Given the description of an element on the screen output the (x, y) to click on. 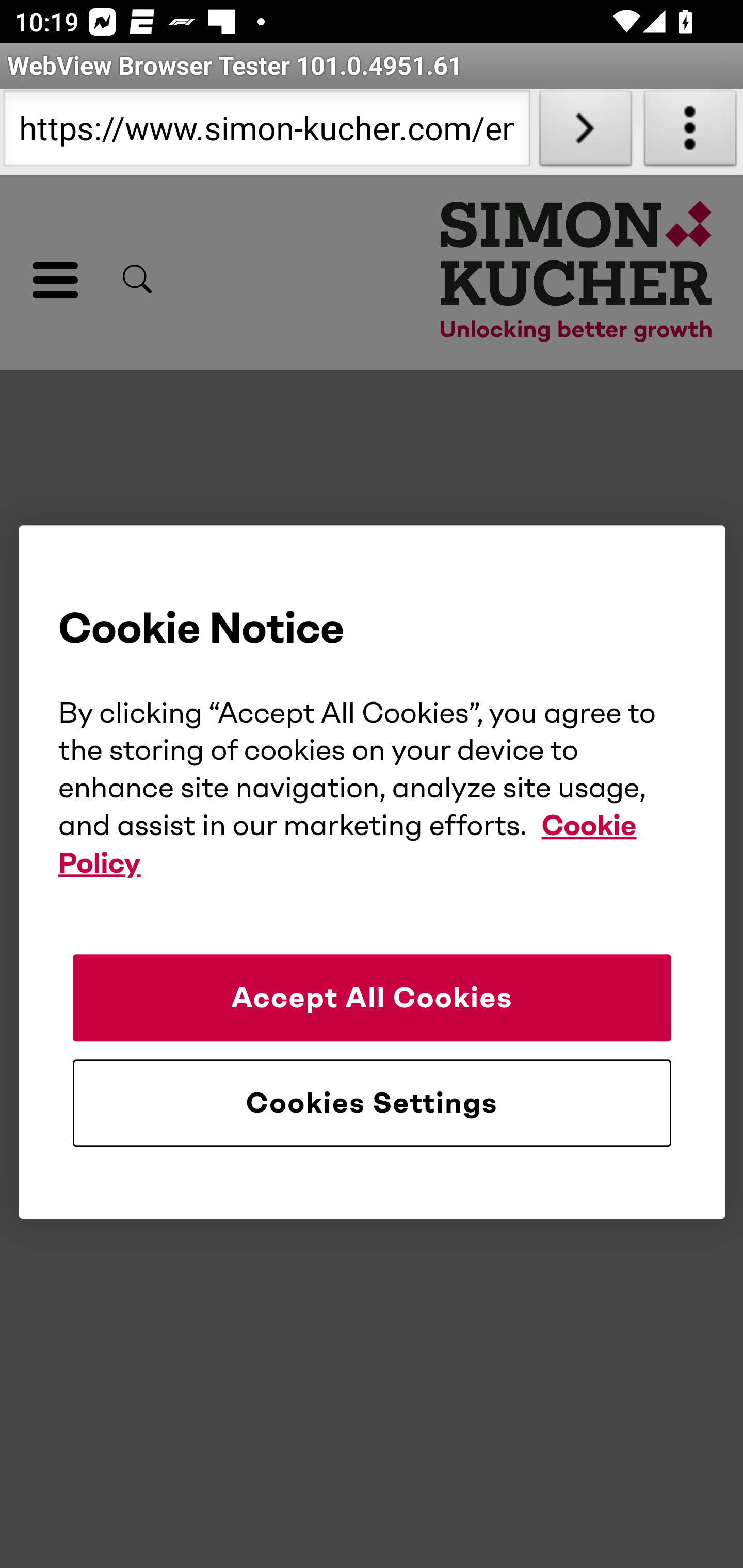
Load URL (585, 132)
About WebView (690, 132)
Accept All Cookies (371, 997)
Cookies Settings (371, 1102)
